Given the description of an element on the screen output the (x, y) to click on. 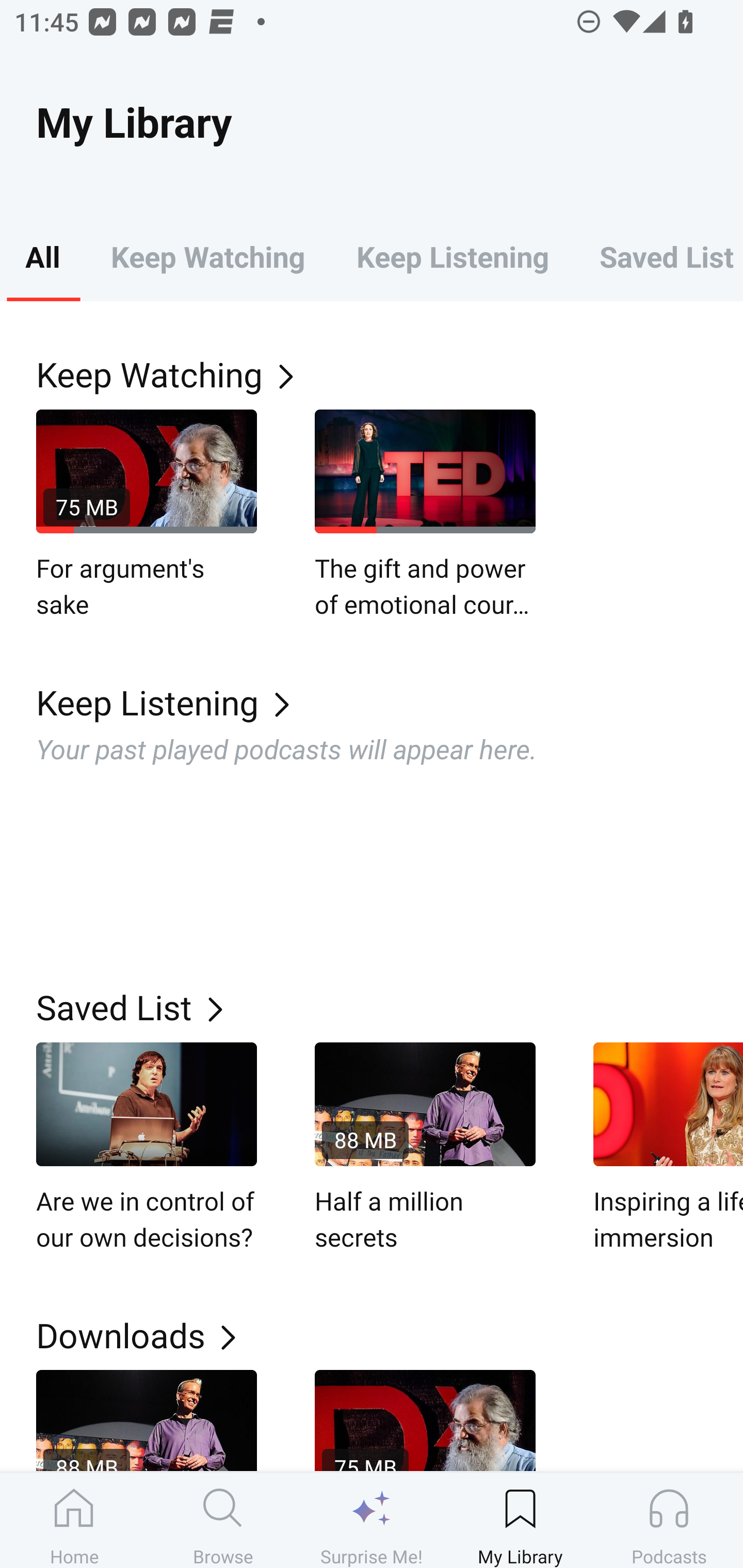
All (42, 256)
Keep Watching (207, 256)
Keep Listening (452, 256)
Saved List (658, 256)
Keep Watching (389, 373)
75 MB For argument's sake (146, 514)
The gift and power of emotional courage (425, 514)
Keep Listening (389, 702)
Saved List (389, 1007)
Are we in control of our own decisions? (146, 1148)
88 MB Half a million secrets (425, 1148)
Inspiring a life of immersion (668, 1148)
Downloads (389, 1334)
88 MB (146, 1420)
75 MB (425, 1420)
Home (74, 1520)
Browse (222, 1520)
Surprise Me! (371, 1520)
My Library (519, 1520)
Podcasts (668, 1520)
